Given the description of an element on the screen output the (x, y) to click on. 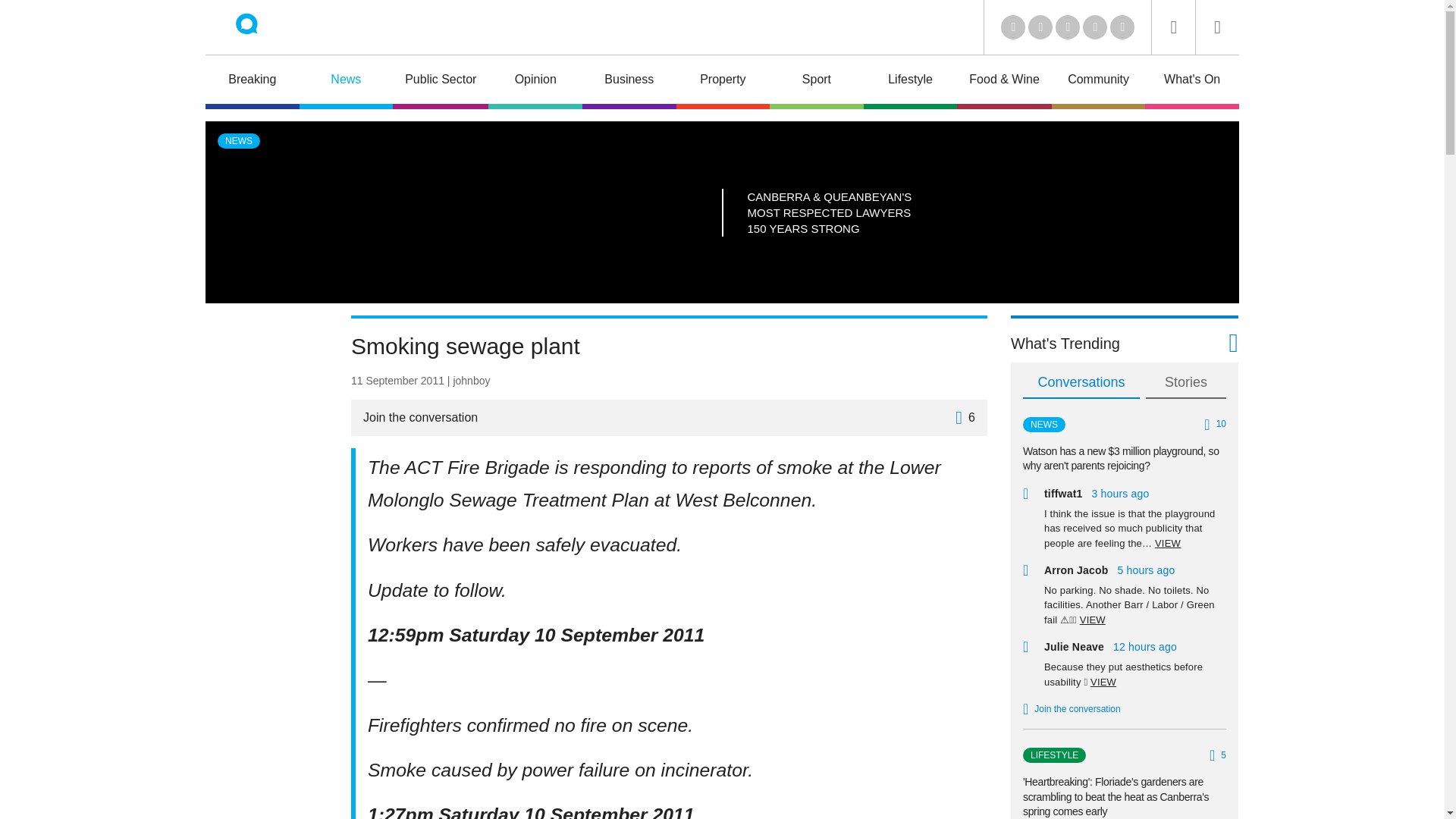
Breaking (252, 81)
Riotact Home (267, 26)
Facebook (1094, 27)
News (346, 81)
LinkedIn (1013, 27)
Twitter (1039, 27)
Youtube (1067, 27)
Instagram (1121, 27)
